Given the description of an element on the screen output the (x, y) to click on. 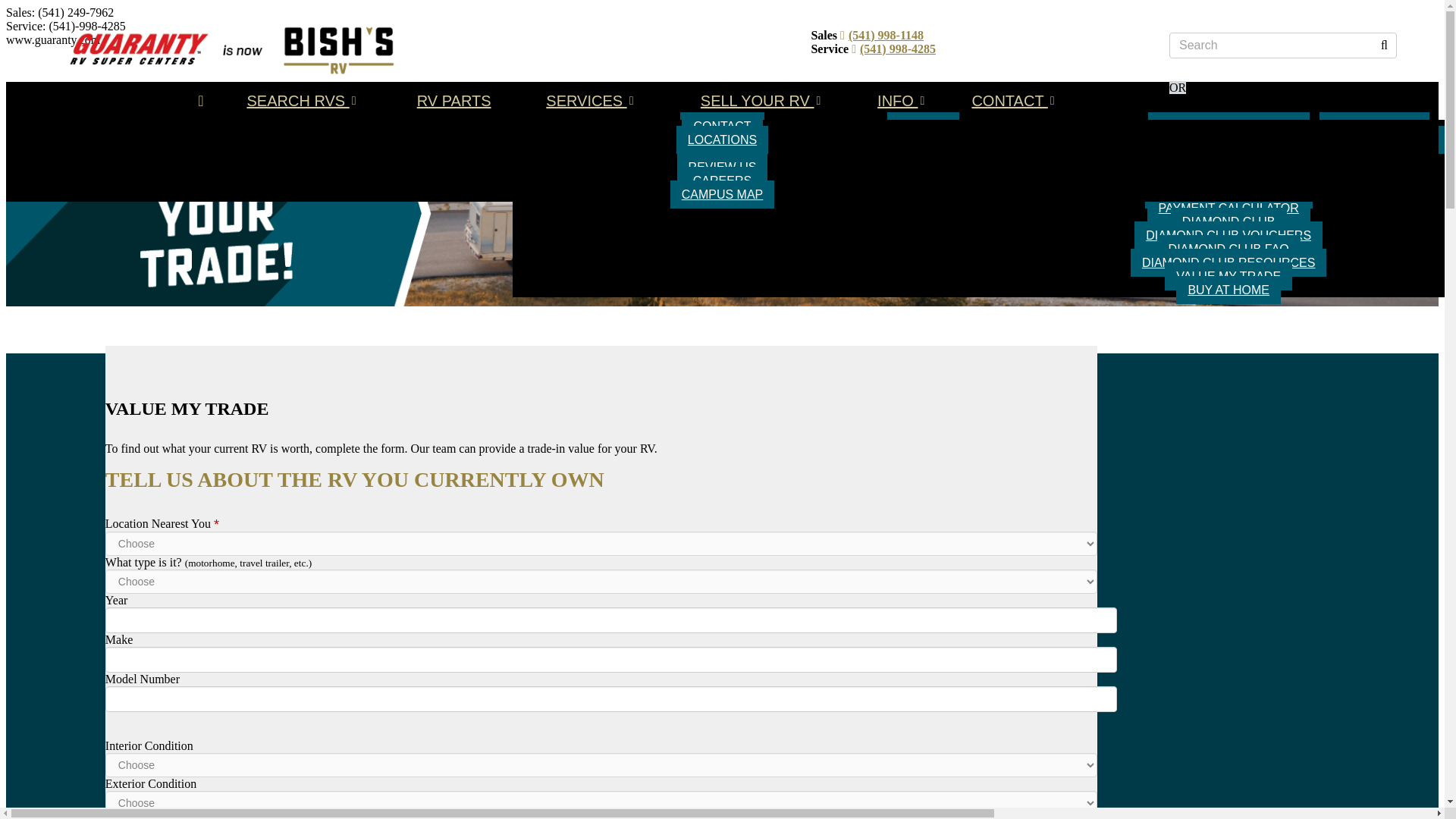
SEARCH RVS (300, 100)
ABOUT US (722, 126)
PRE-OWNED (923, 153)
SPECIALS (922, 166)
SELL YOUR RV (1374, 126)
VALUE MY TRADE (923, 180)
CASH FOR CAMPERS (1374, 139)
SERVICE DEPARTMENT (1228, 126)
CAMPUS MAP (721, 194)
RV WINTERIZATION (1227, 139)
DIAMOND CLUB FAQ (1228, 248)
DIAMOND CLUB VOUCHERS (1228, 235)
BUY AT HOME (1228, 289)
SERVICES (589, 100)
